Given the description of an element on the screen output the (x, y) to click on. 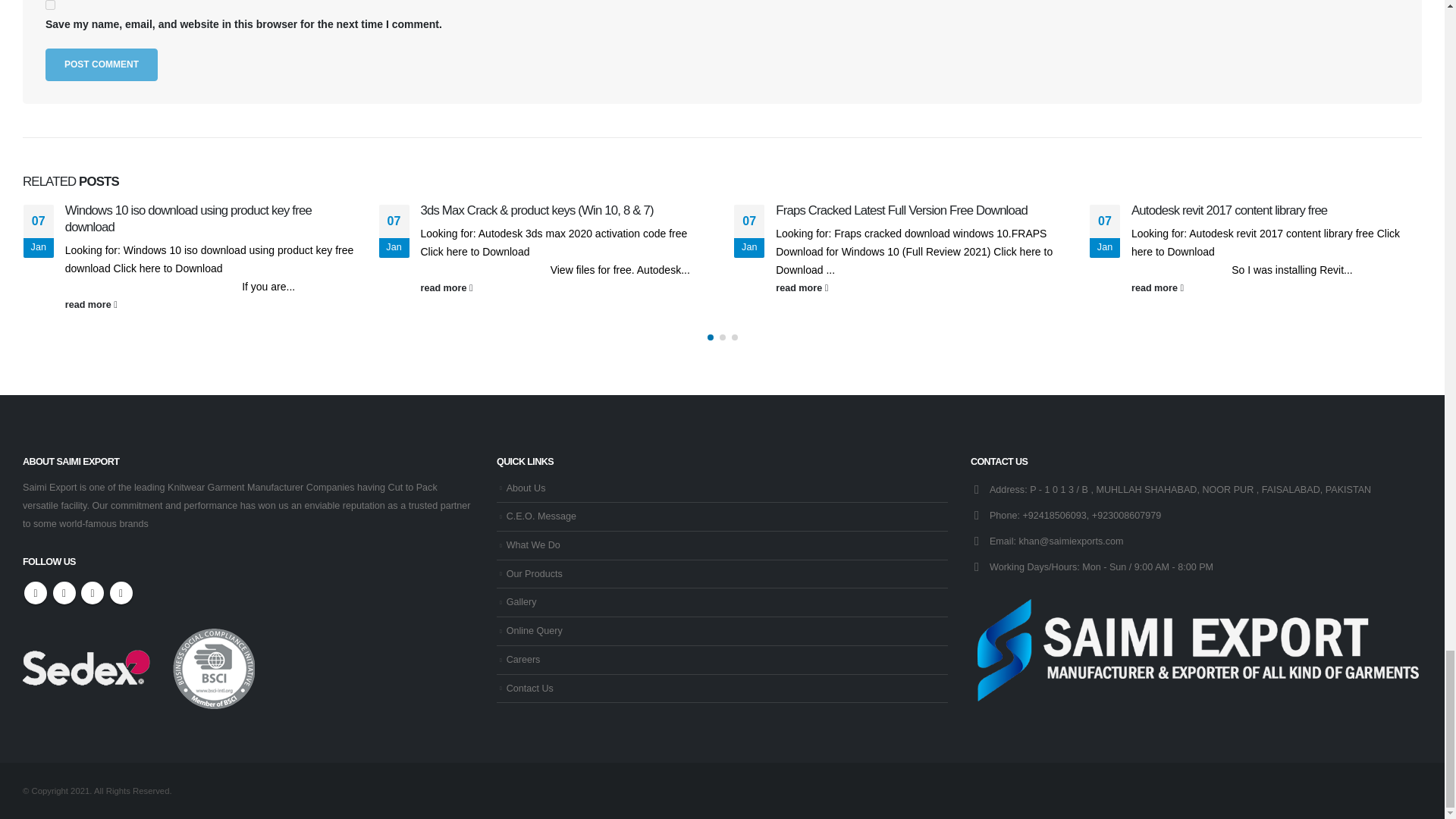
yes (50, 4)
Post Comment (101, 64)
Post Comment (101, 64)
